Given the description of an element on the screen output the (x, y) to click on. 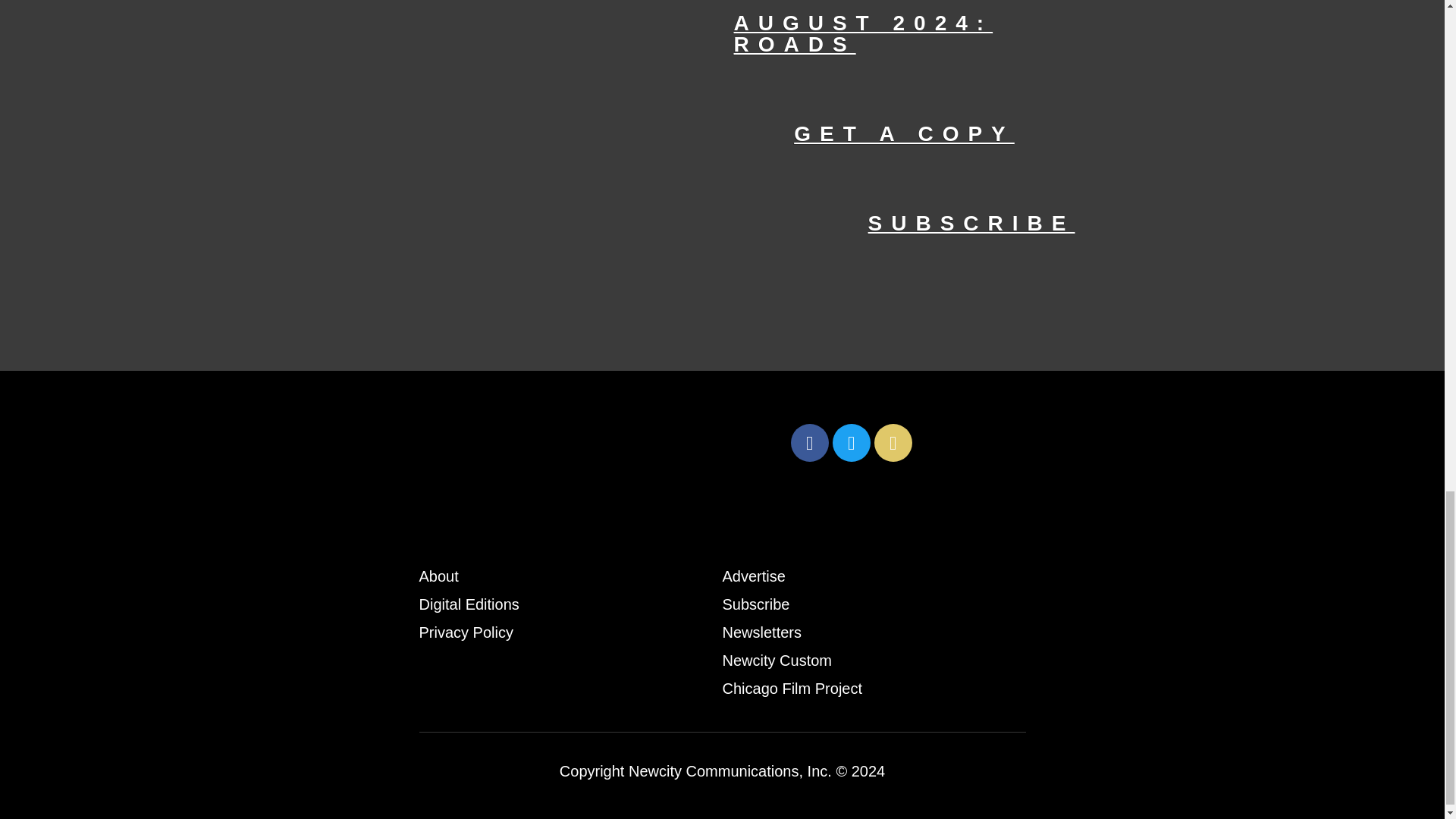
NewcityLogo.png (600, 442)
